Given the description of an element on the screen output the (x, y) to click on. 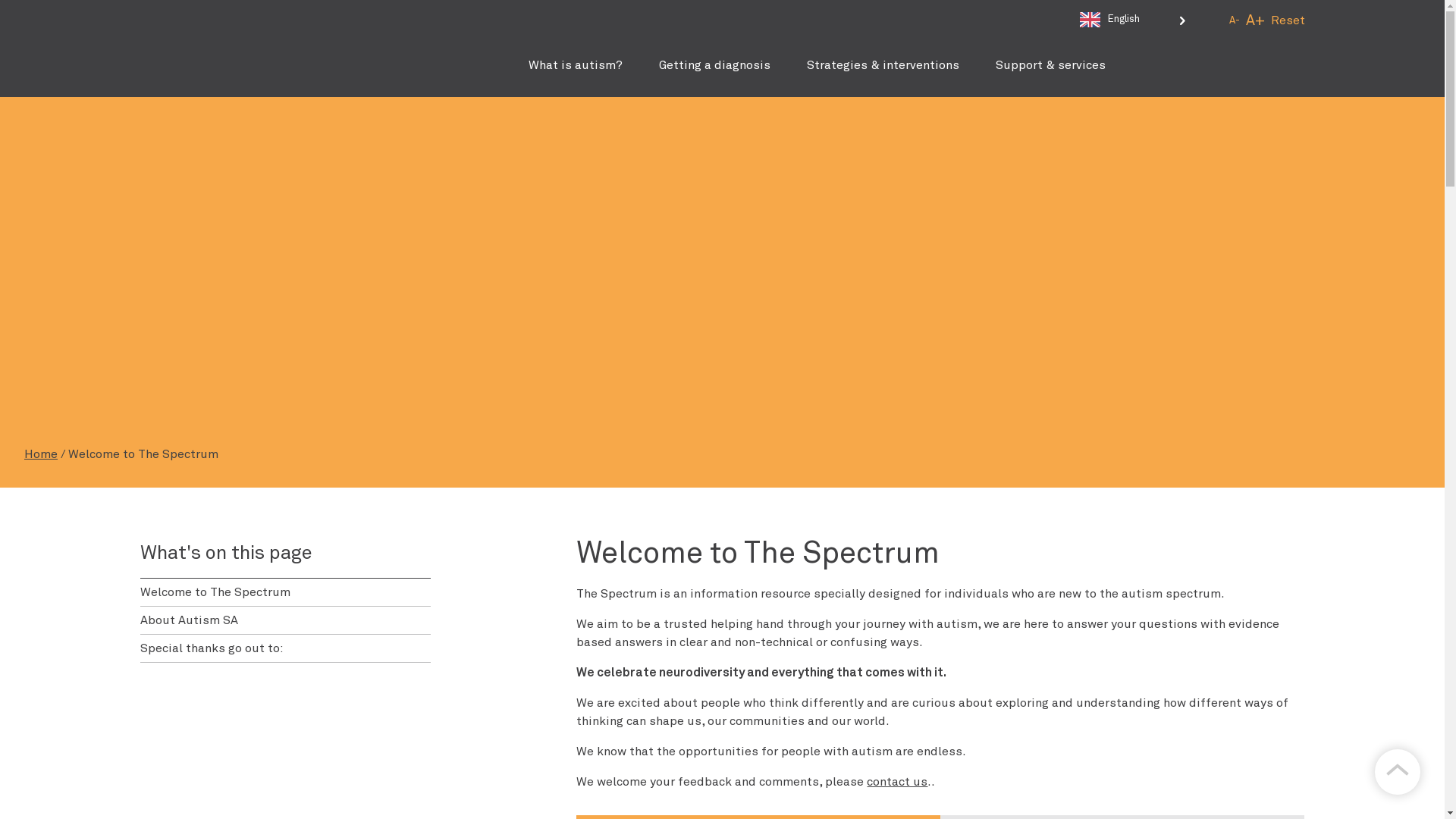
Scroll to top Element type: text (1397, 771)
What is autism? Element type: text (574, 64)
Special thanks go out to: Element type: text (284, 647)
Search Element type: text (1273, 116)
Home Element type: text (40, 454)
Reset Element type: text (1287, 20)
A- Element type: text (1233, 21)
Support & services Element type: text (1049, 64)
About Autism SA Element type: text (284, 619)
Getting a diagnosis Element type: text (713, 64)
Strategies & interventions Element type: text (882, 64)
contact us Element type: text (896, 781)
Welcome to The Spectrum Element type: text (284, 591)
A+ Element type: text (1254, 20)
